Given the description of an element on the screen output the (x, y) to click on. 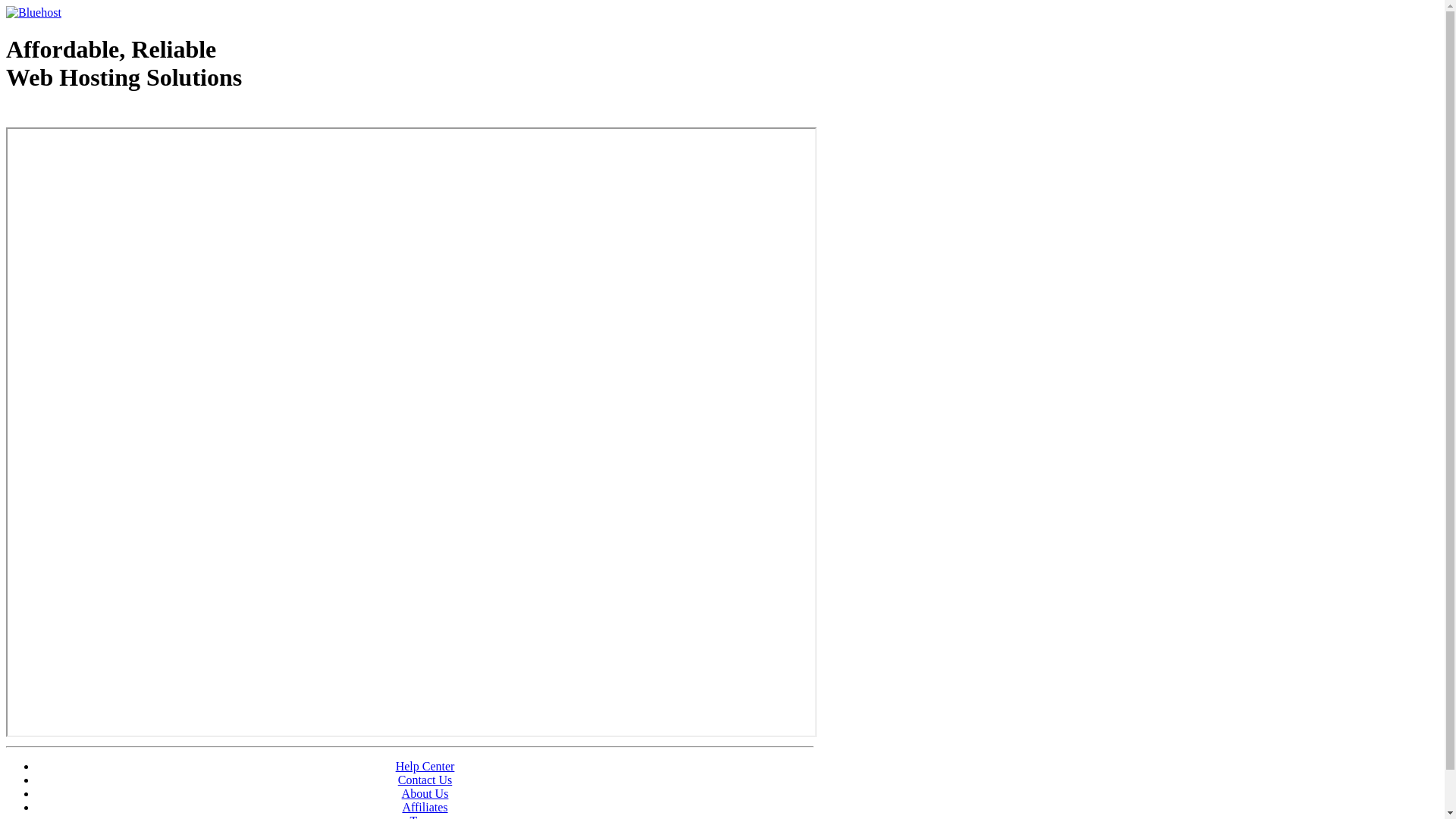
Contact Us Element type: text (425, 779)
About Us Element type: text (424, 793)
Help Center Element type: text (425, 765)
Web Hosting - courtesy of www.bluehost.com Element type: text (94, 115)
Affiliates Element type: text (424, 806)
